Given the description of an element on the screen output the (x, y) to click on. 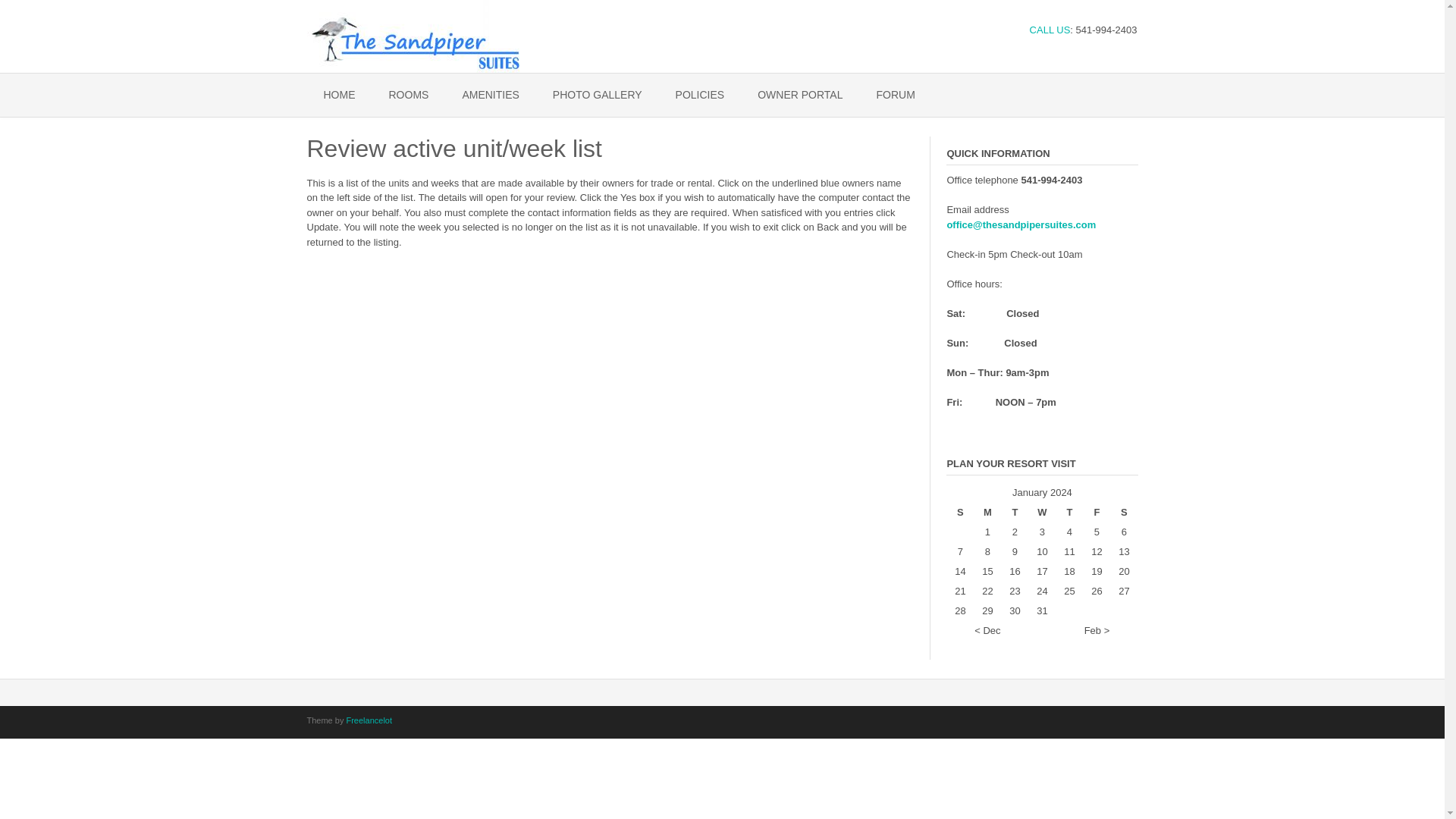
ROOMS (408, 95)
Freelancelot (368, 719)
The Sandpiper Suites (411, 36)
AMENITIES (490, 95)
OWNER PORTAL (800, 95)
FORUM (895, 95)
HOME (338, 95)
PHOTO GALLERY (597, 95)
POLICIES (700, 95)
